Given the description of an element on the screen output the (x, y) to click on. 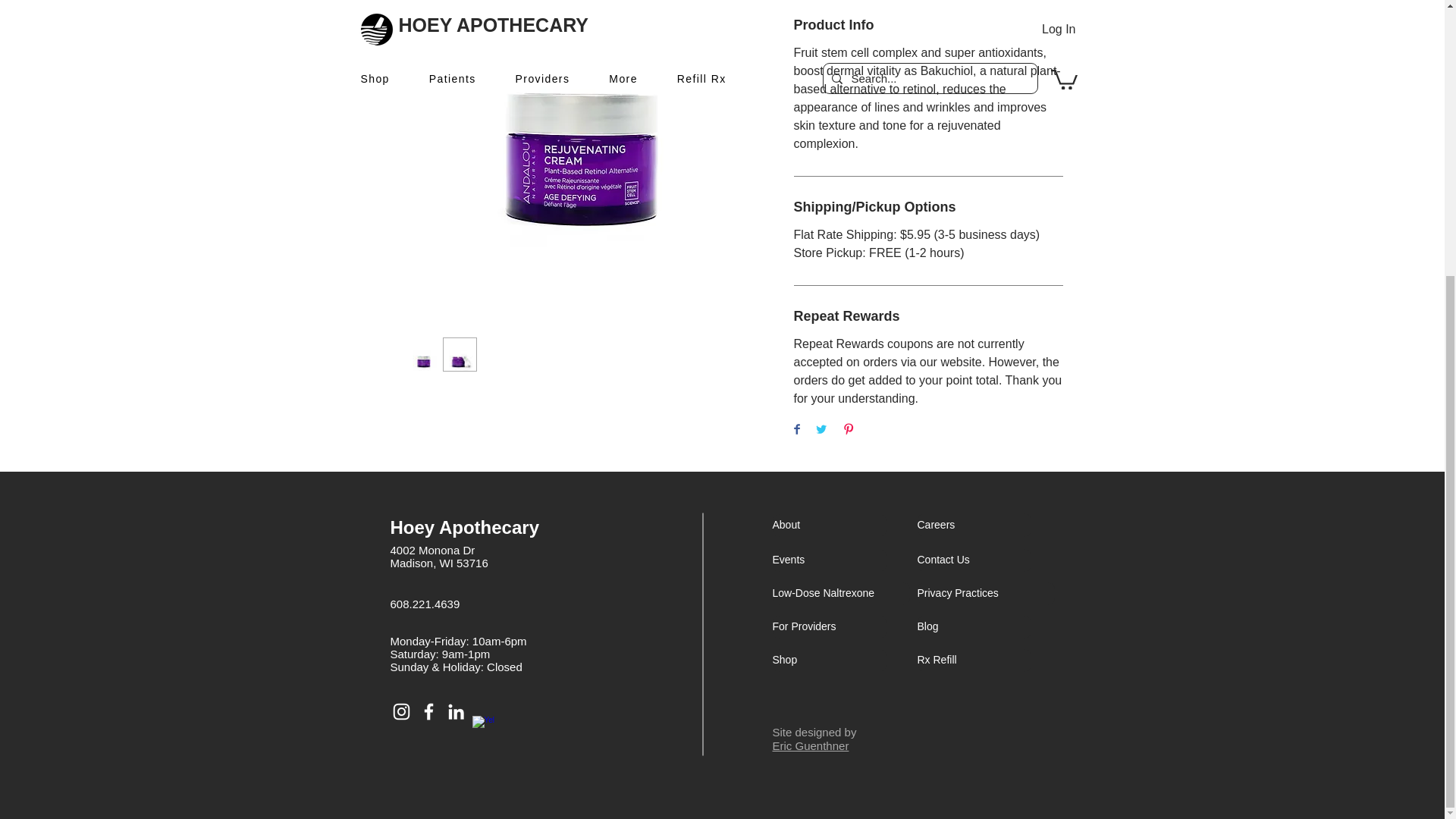
608.221.4639 (425, 603)
